Given the description of an element on the screen output the (x, y) to click on. 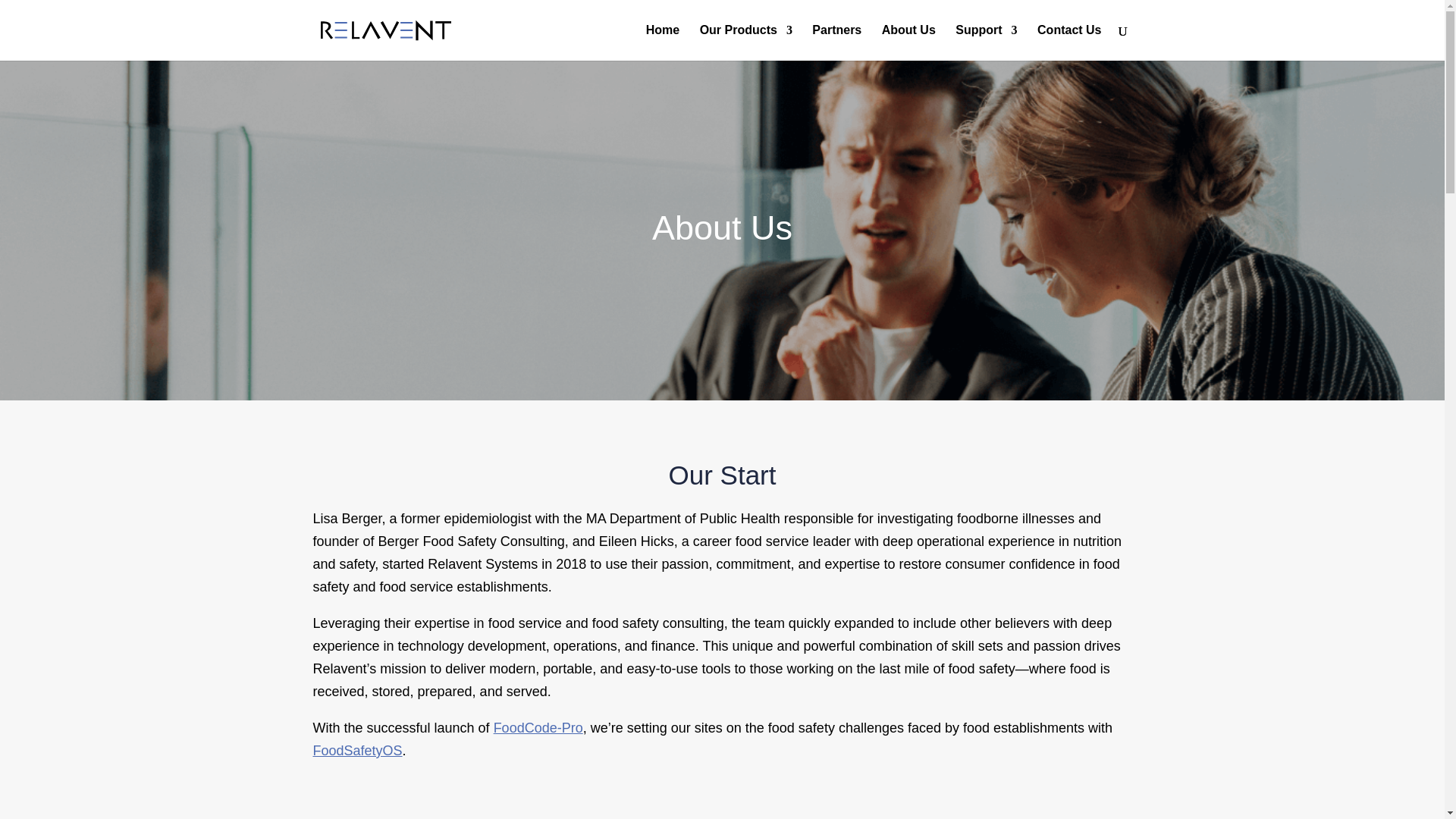
Home (662, 42)
FoodSafetyOS (357, 750)
Our Products (746, 42)
Partners (836, 42)
About Us (909, 42)
Contact Us (1068, 42)
Support (985, 42)
FoodCode-Pro (538, 727)
